Given the description of an element on the screen output the (x, y) to click on. 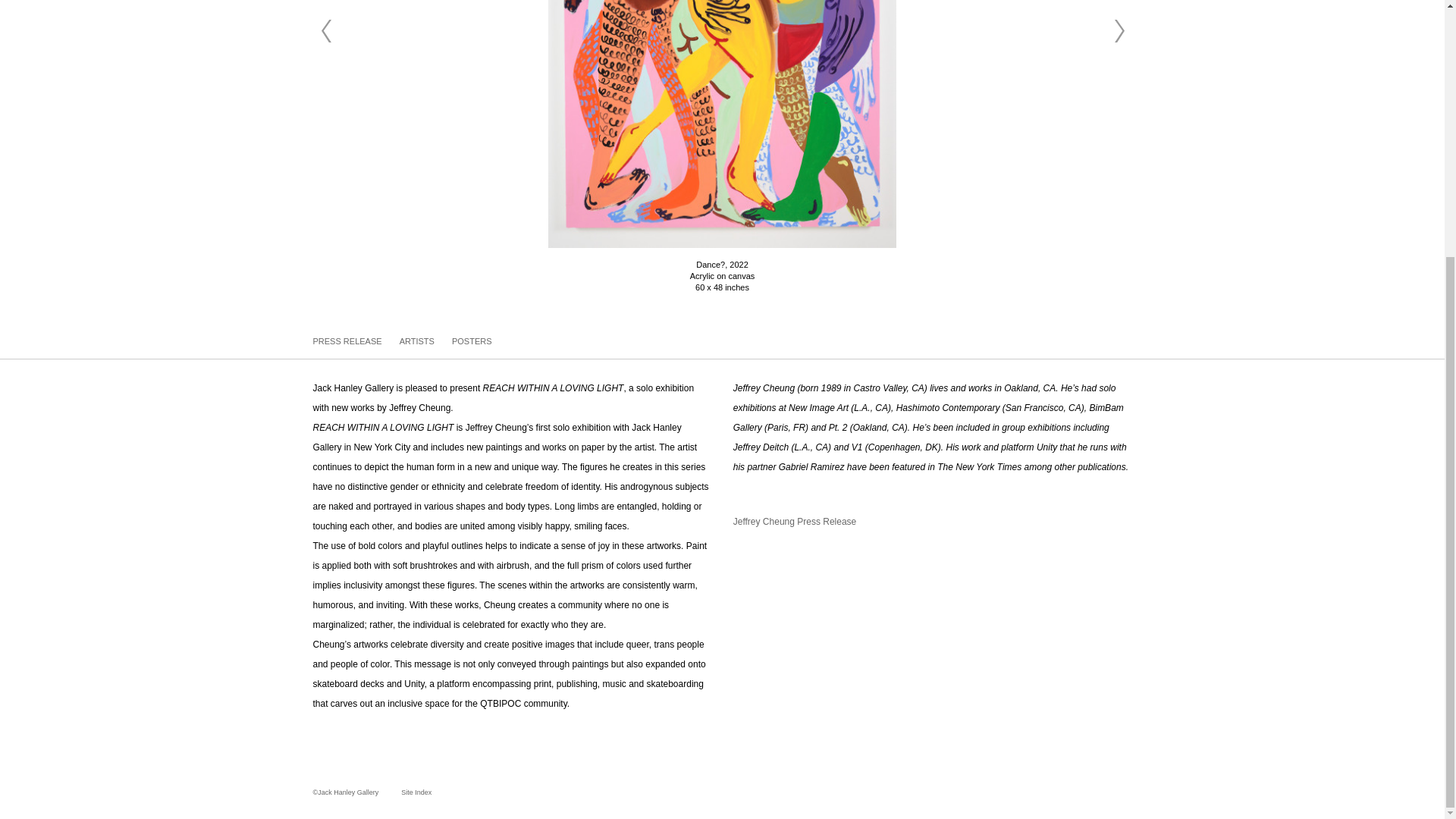
PRESS RELEASE (348, 340)
Jeffrey Cheung Press Release (795, 521)
POSTERS (471, 340)
Site Index (404, 792)
ARTISTS (417, 340)
